Given the description of an element on the screen output the (x, y) to click on. 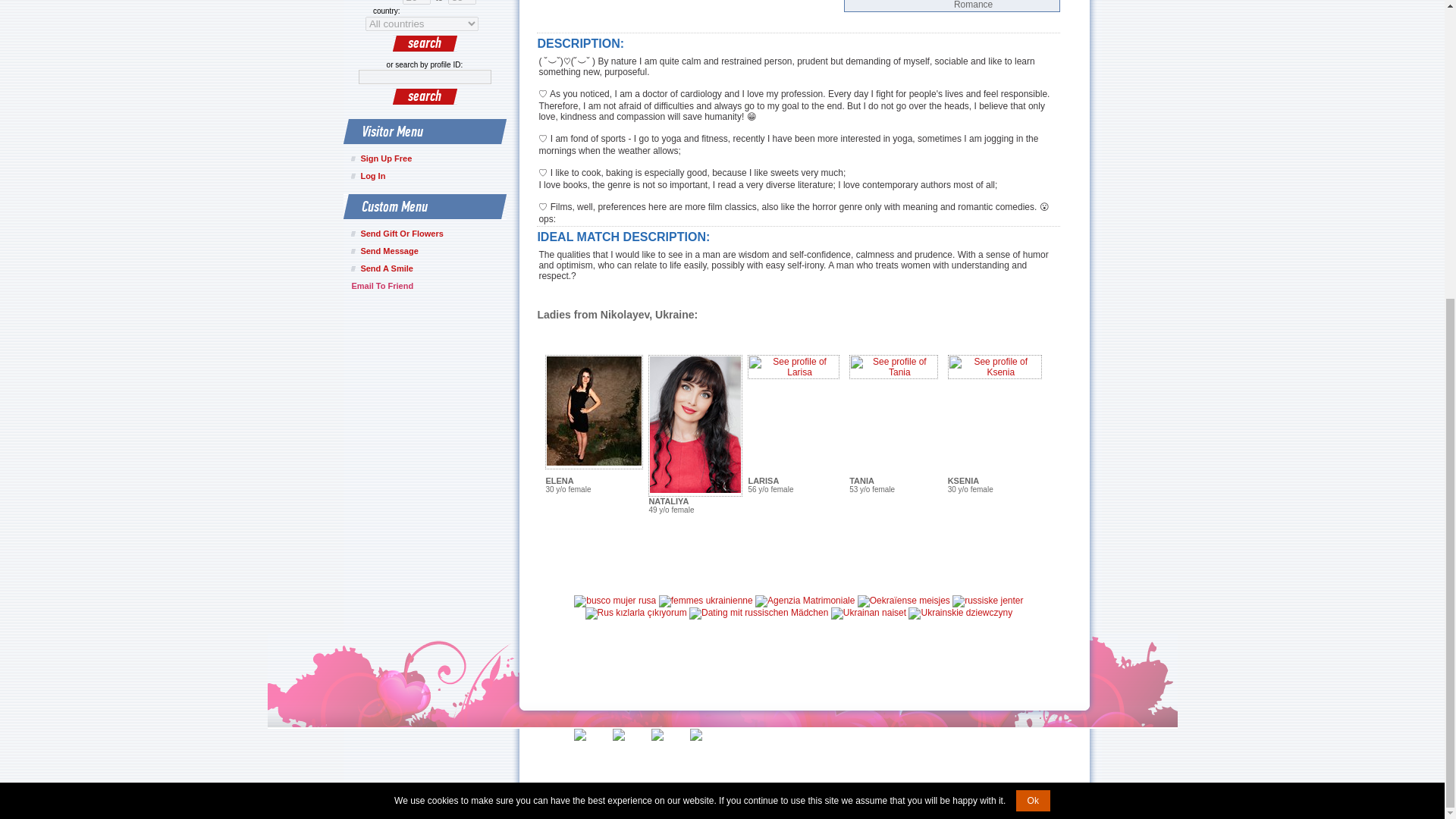
ukrainsk kvinne (987, 600)
Email To Friend (381, 285)
ukraynali gelinler (636, 612)
Services (635, 751)
donne russe (804, 600)
Send A Smile (428, 269)
Sign Up Free (428, 160)
Send Message (428, 252)
Privacy (672, 751)
Terms (707, 751)
